Given the description of an element on the screen output the (x, y) to click on. 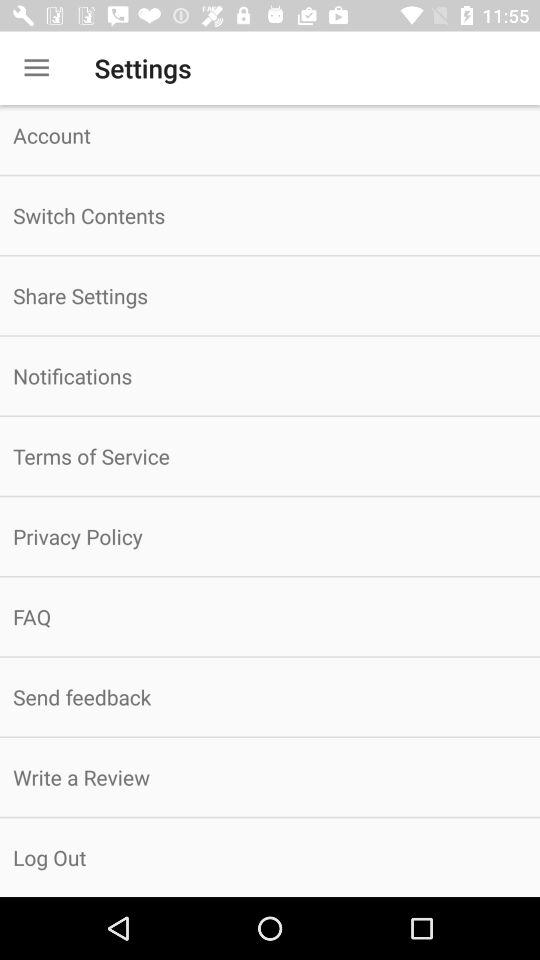
press the item below the send feedback item (270, 777)
